Given the description of an element on the screen output the (x, y) to click on. 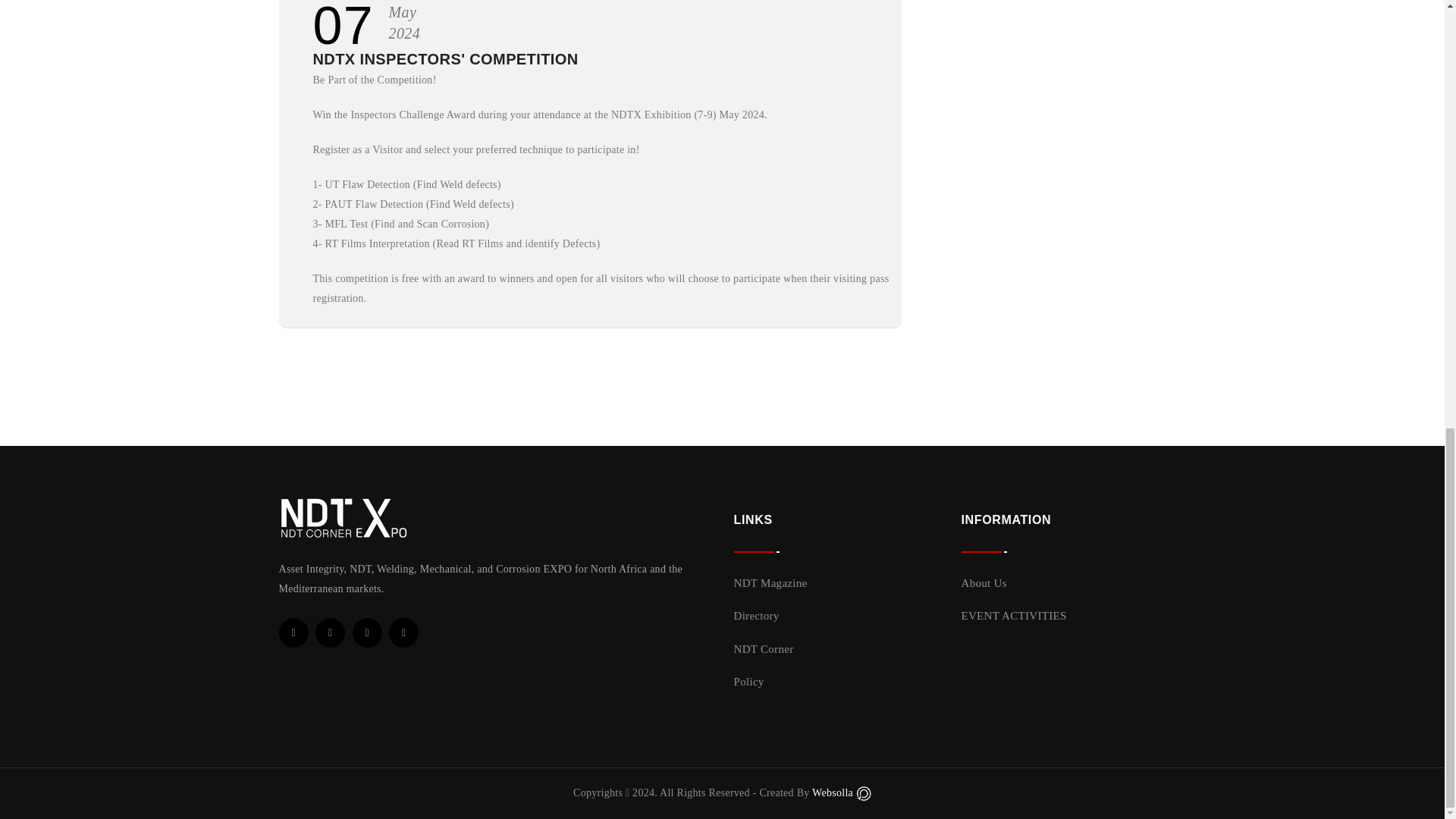
NDTX INSPECTORS' COMPETITION (445, 58)
NDT Magazine (770, 582)
NDT Corner (763, 648)
Policy (748, 681)
NDTX INSPECTORS' COMPETITION (445, 58)
Directory (755, 615)
